Given the description of an element on the screen output the (x, y) to click on. 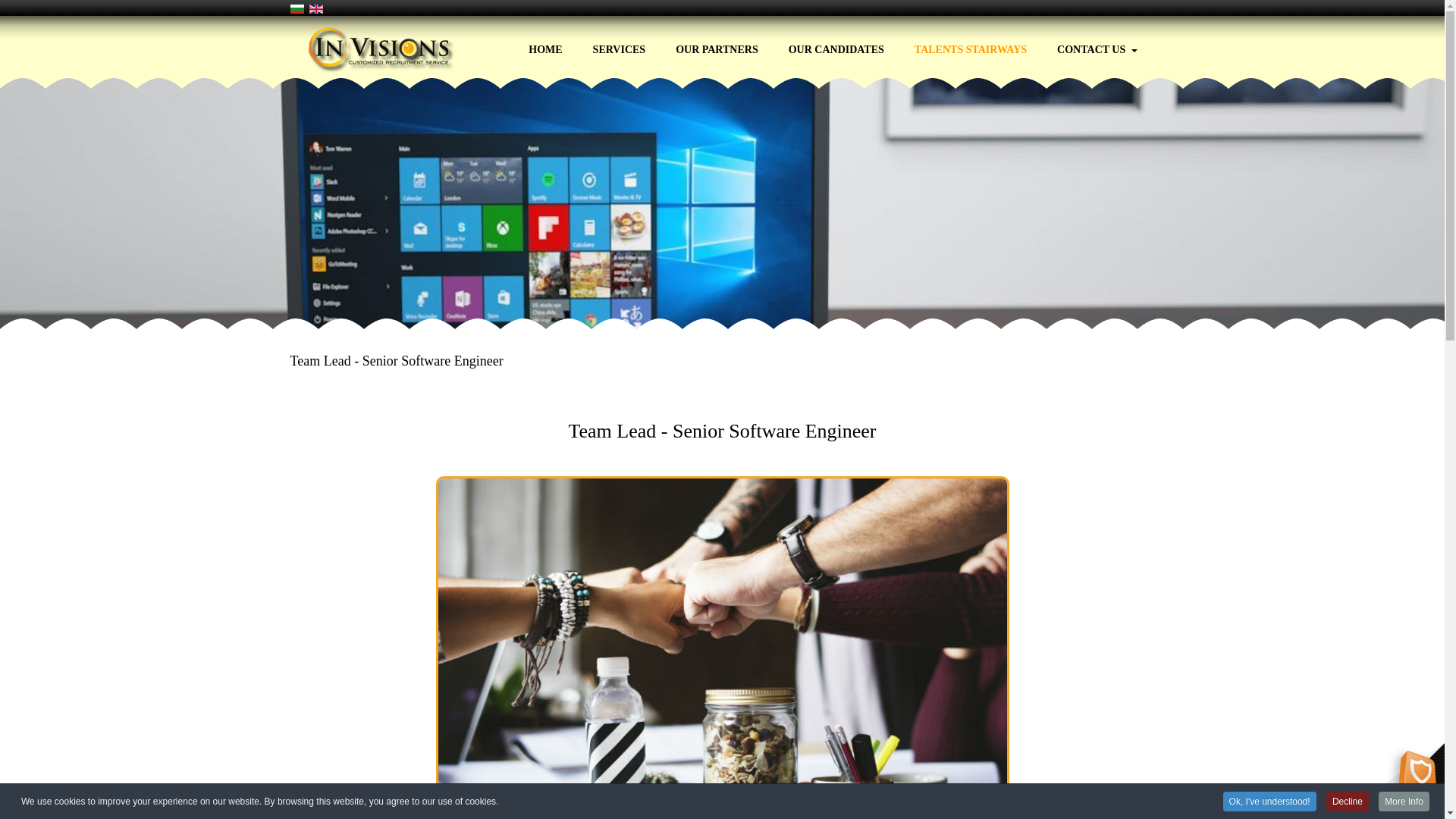
CONTACT US (1096, 43)
invisions.eu (389, 49)
Decline (1347, 816)
Ok, I've understood! (1269, 816)
SERVICES (619, 43)
TALENTS STAIRWAYS (970, 43)
HOME (544, 43)
OUR PARTNERS (716, 43)
More Info (1403, 816)
OUR CANDIDATES (836, 43)
